Given the description of an element on the screen output the (x, y) to click on. 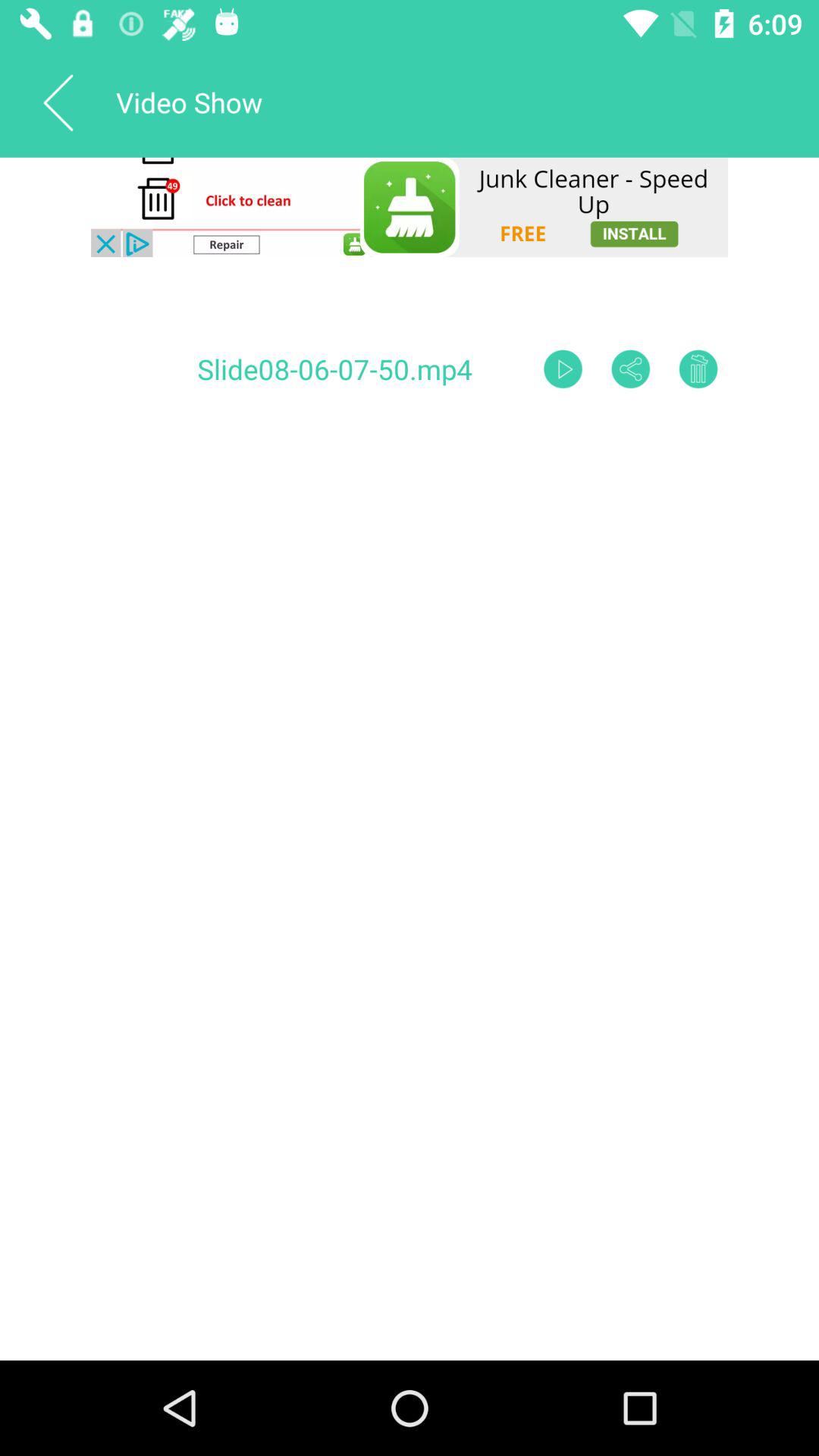
clean the andivirus (409, 207)
